Given the description of an element on the screen output the (x, y) to click on. 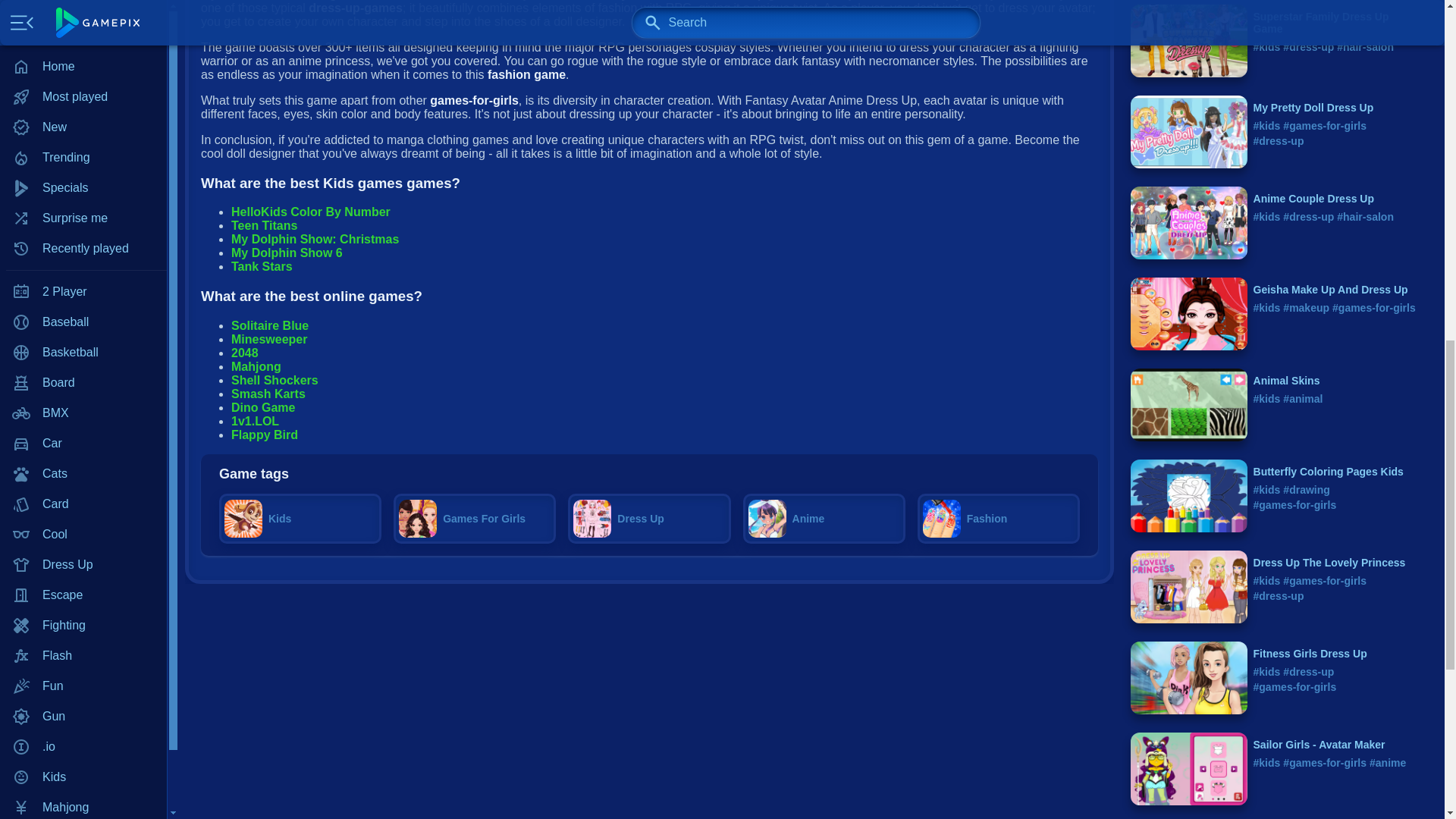
Math (83, 49)
Racing (83, 140)
Poker (83, 79)
Word (83, 352)
Soccer (83, 291)
Solitaire (83, 231)
RPG (83, 170)
Mario (83, 19)
War (83, 322)
Mahjong (83, 2)
